Given the description of an element on the screen output the (x, y) to click on. 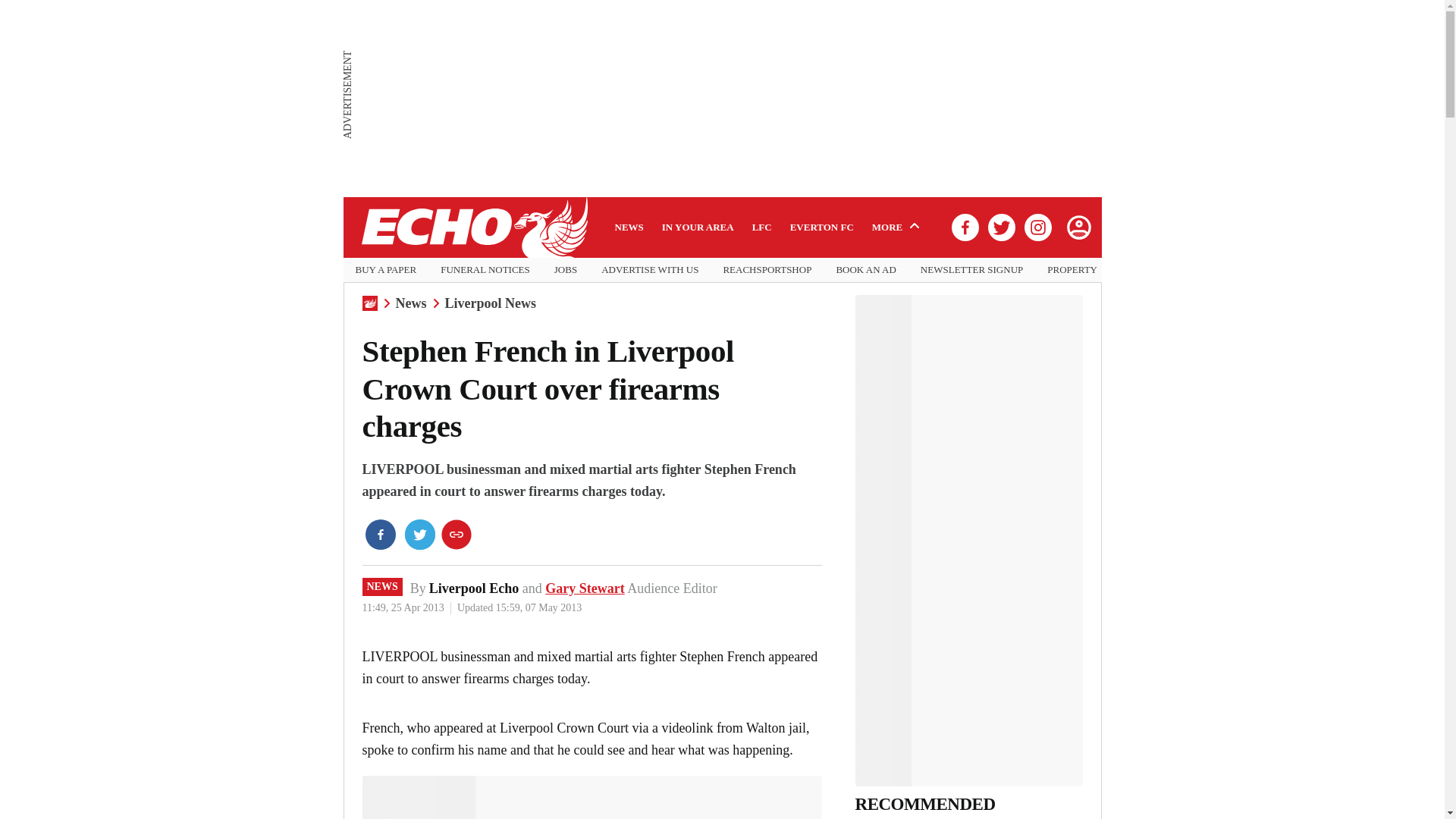
JOBS (565, 270)
FUNERAL NOTICES (485, 270)
MORE (897, 227)
Liverpool News (489, 303)
PROPERTY (1071, 270)
IN YOUR AREA (697, 227)
BUY A PAPER (385, 270)
copy link (456, 534)
NEWSLETTER SIGNUP (971, 270)
REACHSPORTSHOP (766, 270)
